Given the description of an element on the screen output the (x, y) to click on. 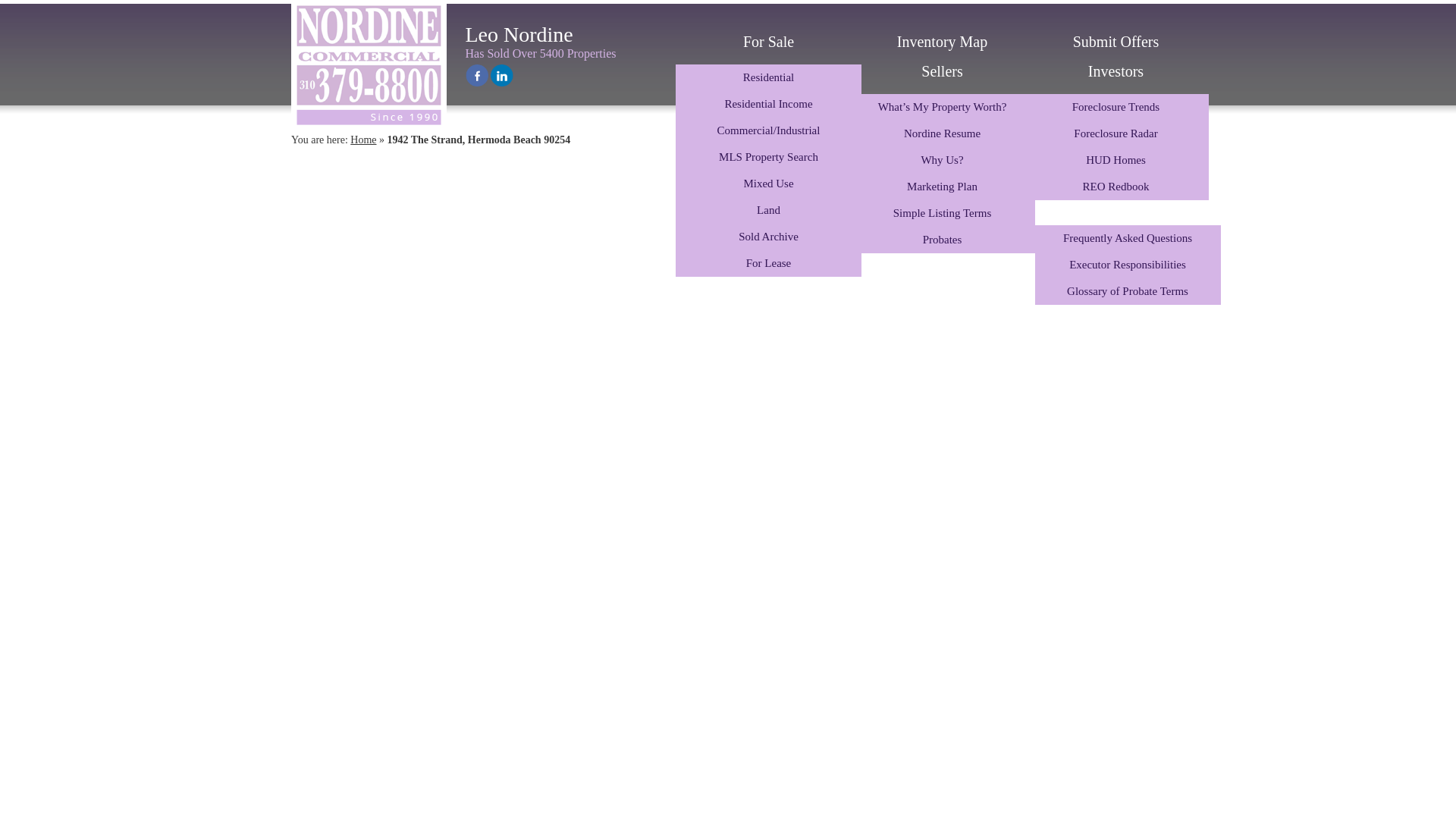
Residential (768, 77)
Residential Income (768, 103)
MLS Property Search (768, 157)
Mixed Use (768, 183)
For Sale (768, 41)
